Given the description of an element on the screen output the (x, y) to click on. 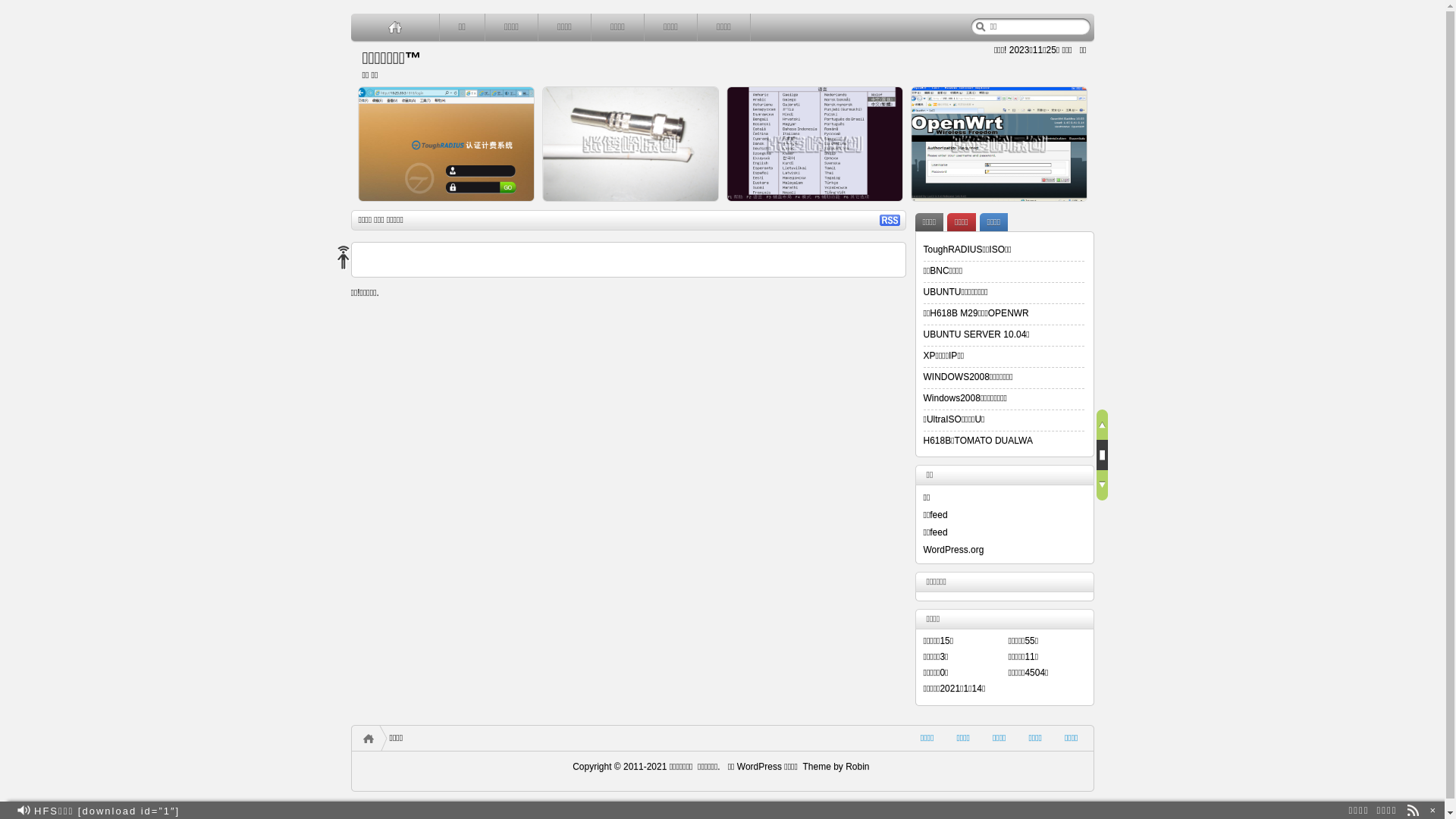
Robin Element type: text (857, 766)
WordPress Element type: text (757, 766)
WordPress.org Element type: text (953, 549)
RSS Element type: text (889, 219)
